Given the description of an element on the screen output the (x, y) to click on. 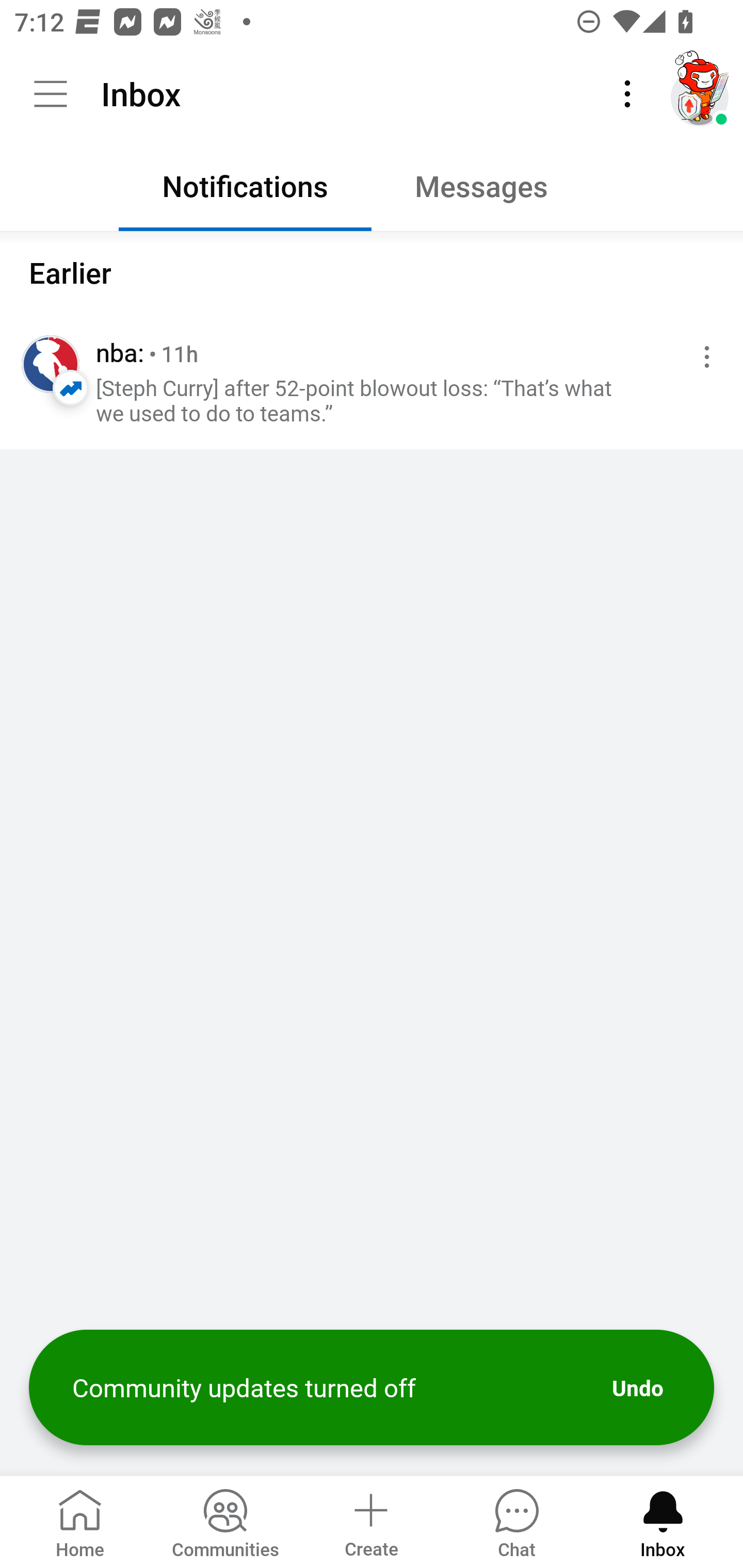
Community menu (50, 93)
More (626, 93)
TestAppium002 account (699, 93)
Messages (497, 191)
More options (703, 356)
Undo (637, 1388)
Home (80, 1520)
Communities (225, 1520)
Create a post Create (370, 1520)
Chat (516, 1520)
Inbox (662, 1520)
